Given the description of an element on the screen output the (x, y) to click on. 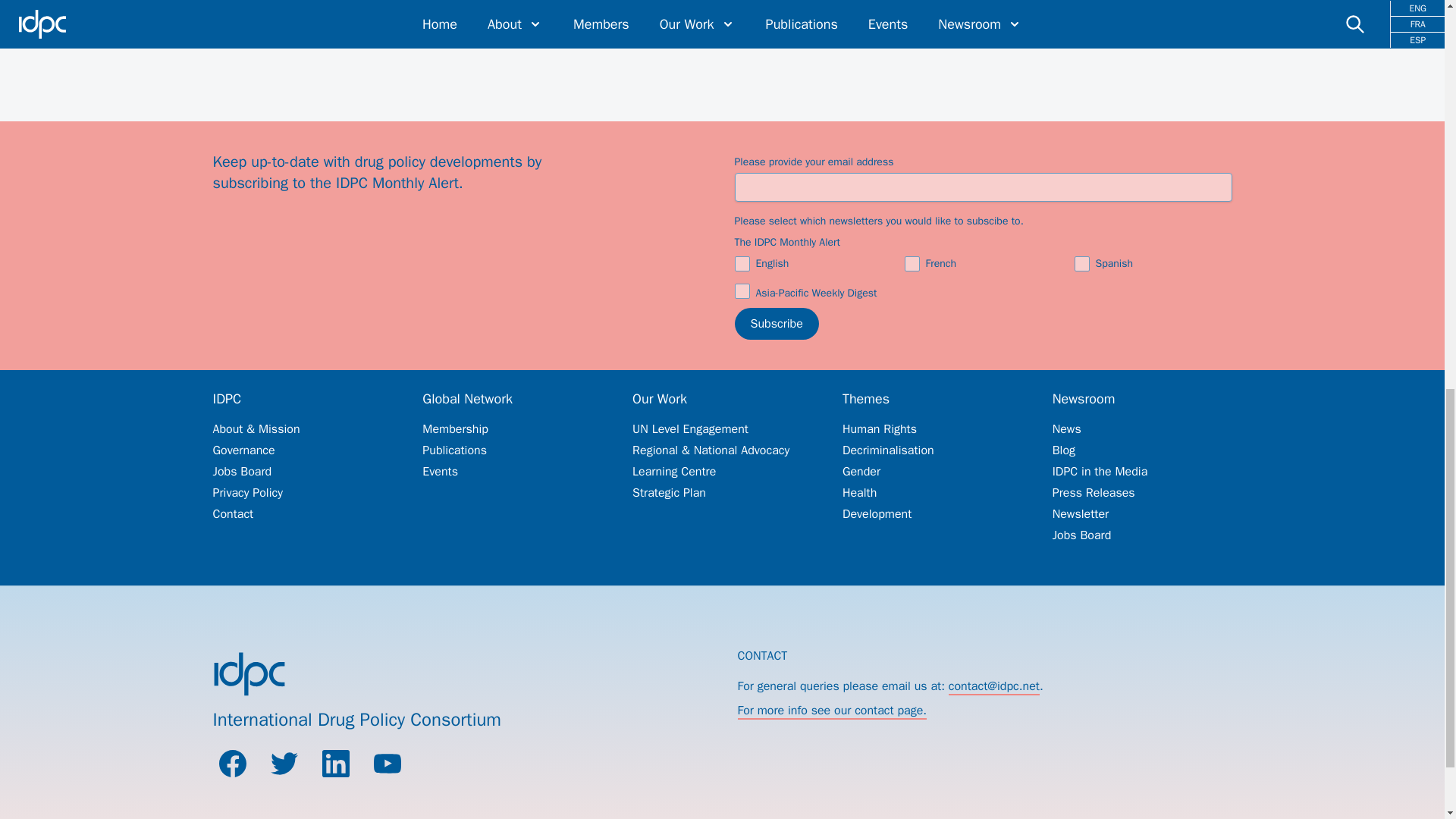
Learning Centre (721, 471)
Spanish (914, 3)
Health (932, 492)
Contact (301, 513)
Strategic Plan (721, 492)
Privacy Policy (301, 492)
Events (512, 471)
Membership (512, 428)
on (741, 290)
Jobs Board (301, 471)
